Given the description of an element on the screen output the (x, y) to click on. 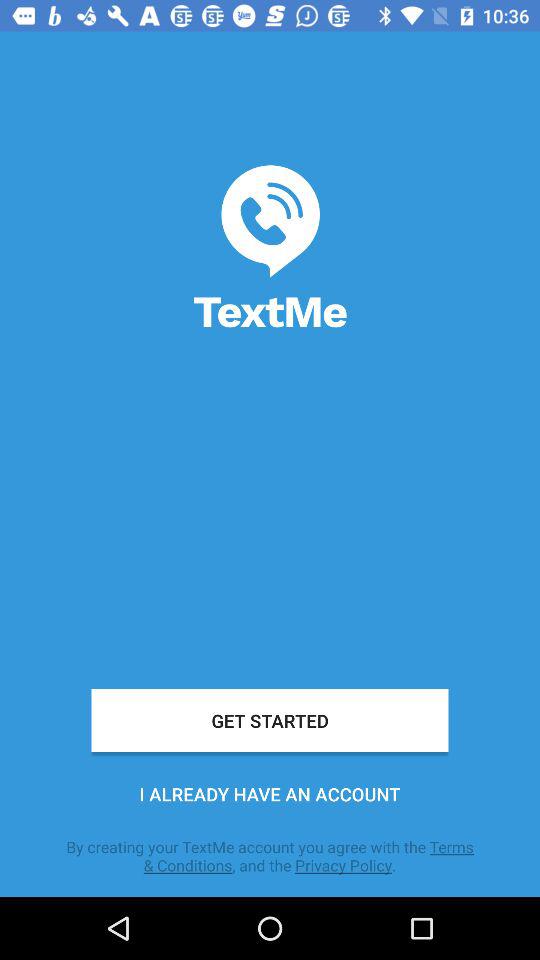
turn on item below get started item (269, 793)
